Given the description of an element on the screen output the (x, y) to click on. 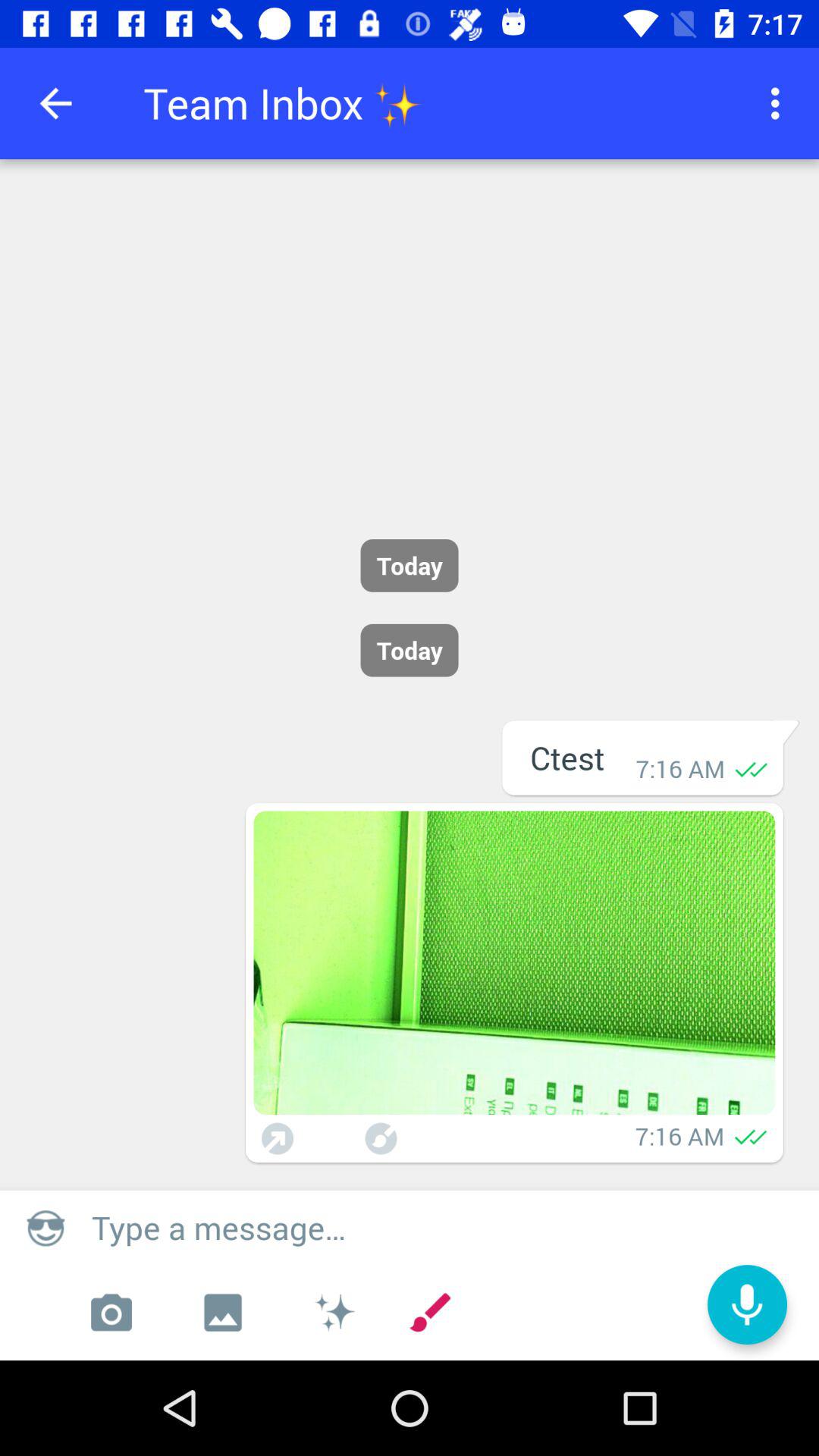
whatsapp chat (514, 962)
